Given the description of an element on the screen output the (x, y) to click on. 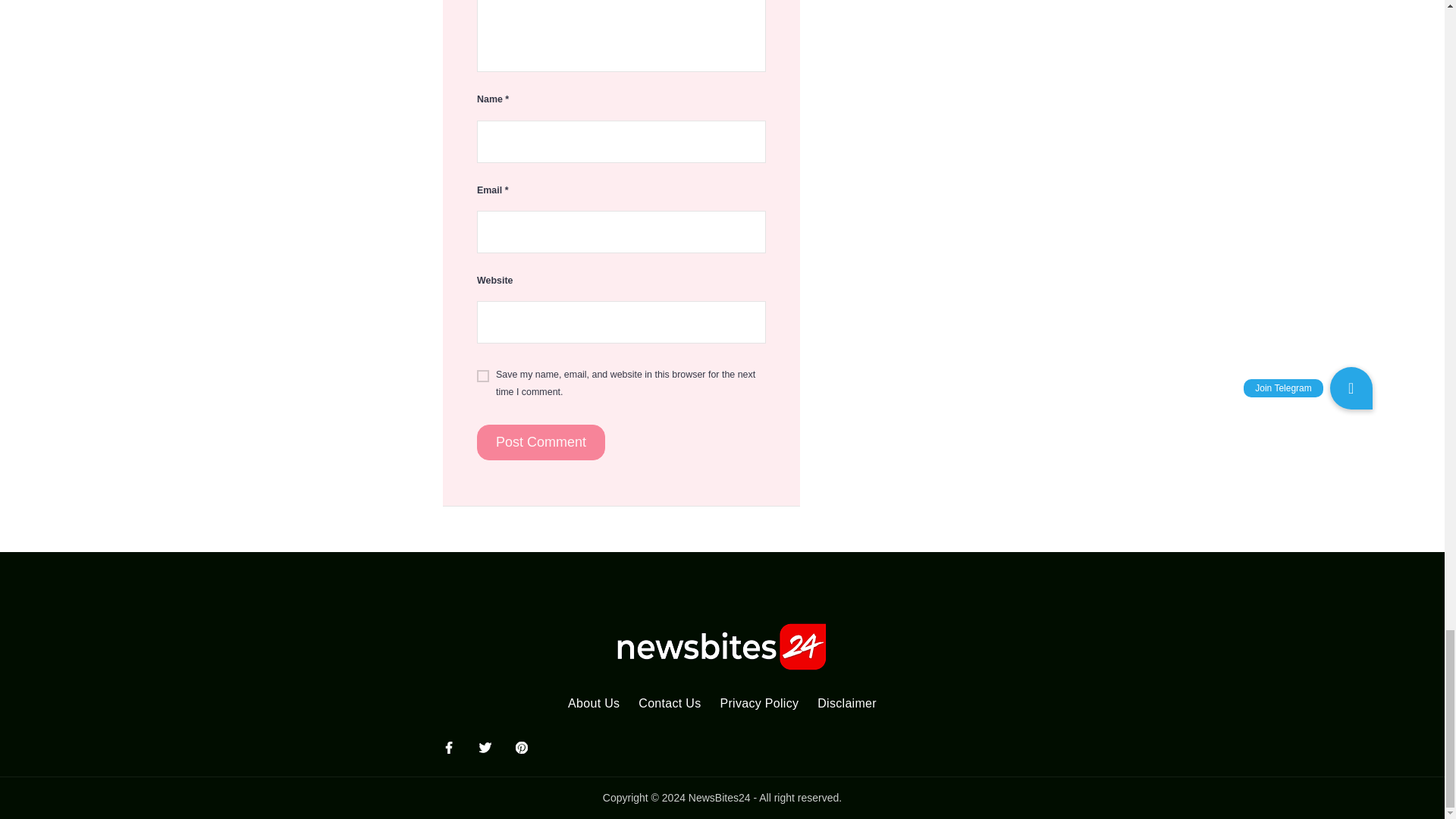
Post Comment (541, 443)
